Given the description of an element on the screen output the (x, y) to click on. 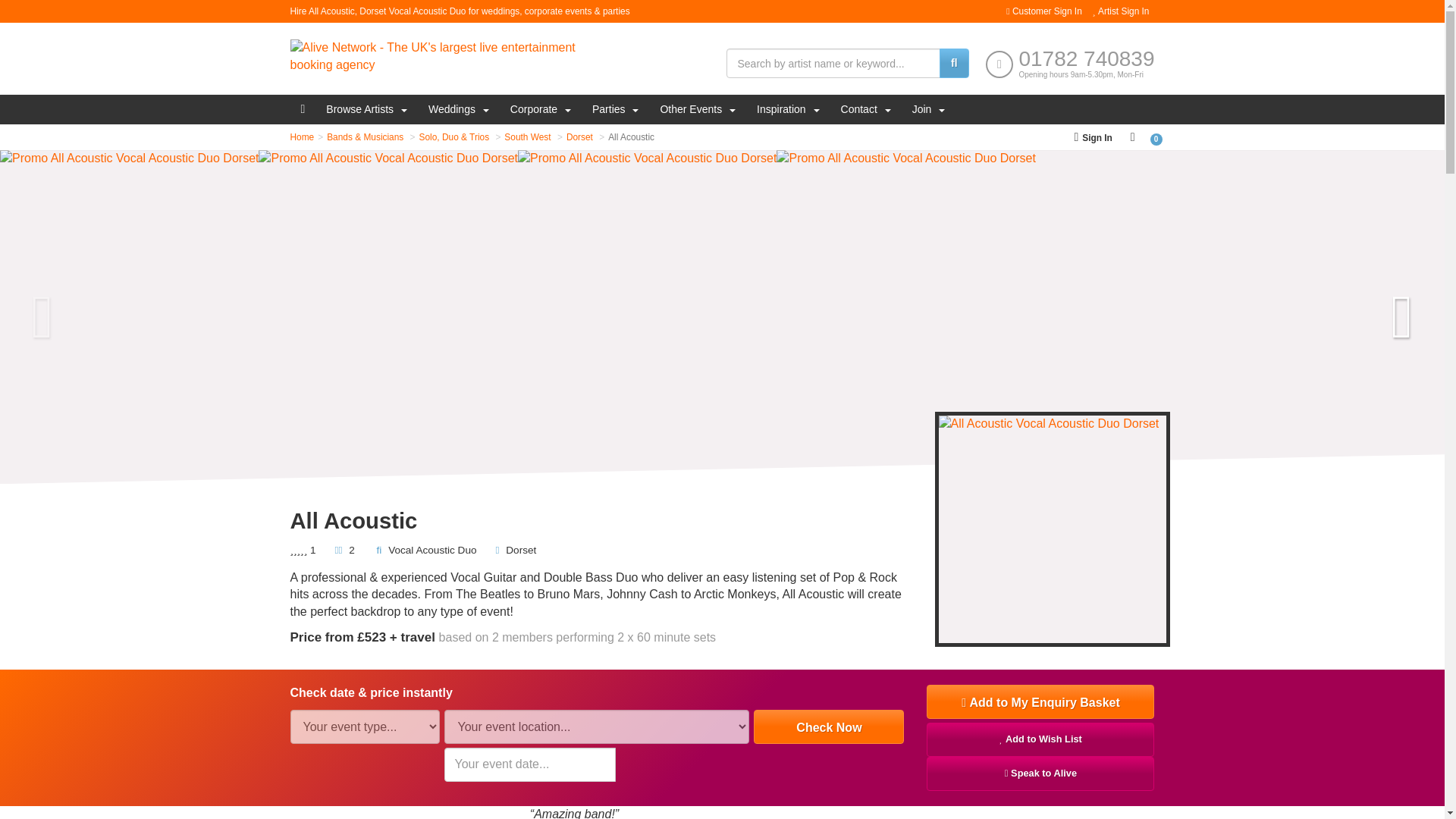
Check Now (829, 726)
Sign In (1092, 136)
View artists in South West (526, 136)
All Acoustic (630, 136)
Sign in to an Artist Account (1120, 11)
Home (301, 136)
View artists in Dorset (579, 136)
Contact (865, 109)
View My Enquiry Basket (1132, 136)
South West (526, 136)
